Given the description of an element on the screen output the (x, y) to click on. 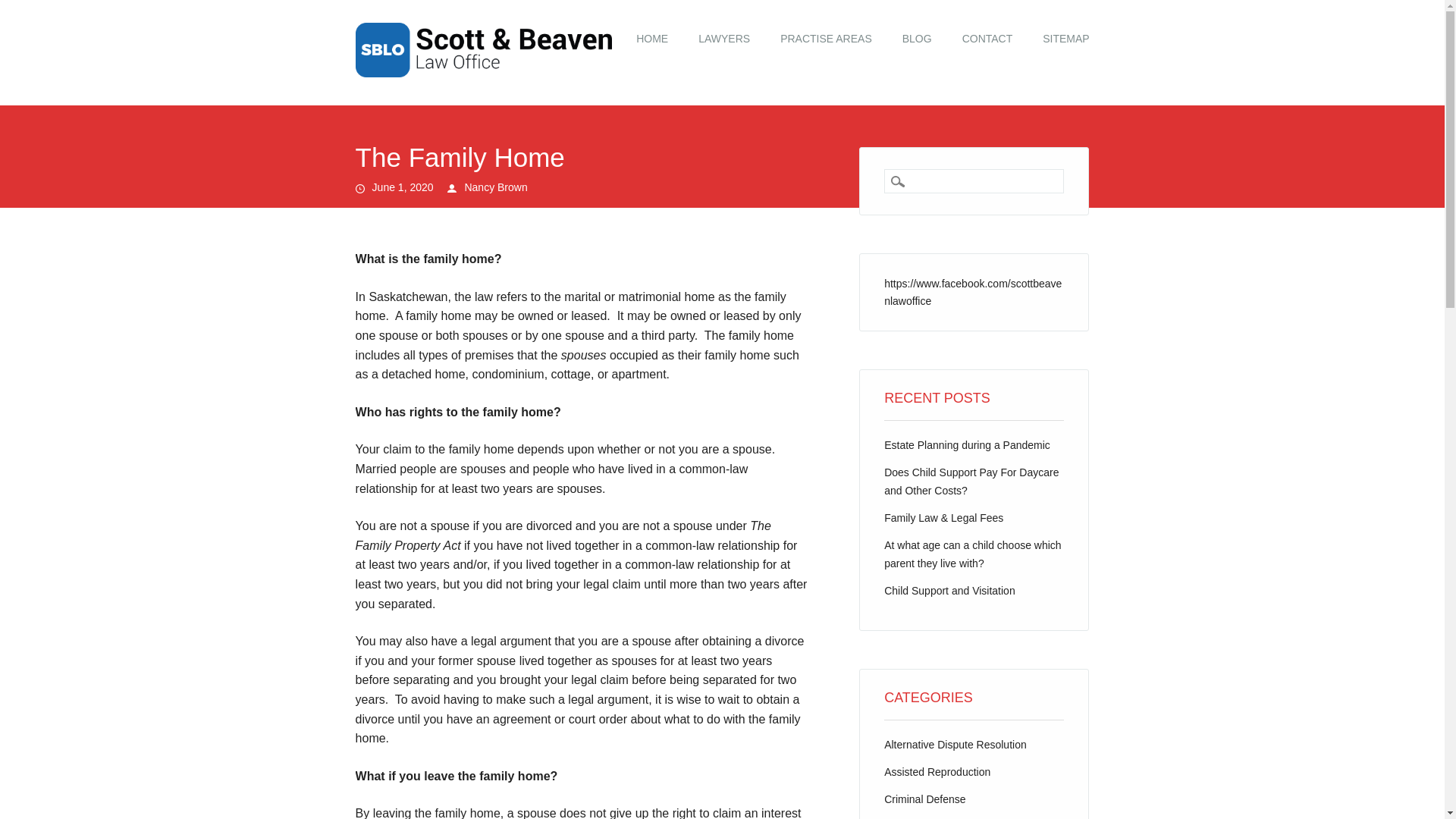
BLOG (916, 38)
CONTACT (987, 38)
Does Child Support Pay For Daycare and Other Costs? (970, 481)
SITEMAP (1065, 38)
Nancy Brown (495, 186)
June 1, 2020 (402, 186)
5:43 pm (402, 186)
HOME (651, 38)
LAWYERS (723, 38)
Search (22, 8)
At what age can a child choose which parent they live with? (972, 553)
PRACTISE AREAS (825, 38)
View all posts by Nancy Brown (495, 186)
Estate Planning during a Pandemic (966, 444)
Child Support and Visitation (948, 590)
